Given the description of an element on the screen output the (x, y) to click on. 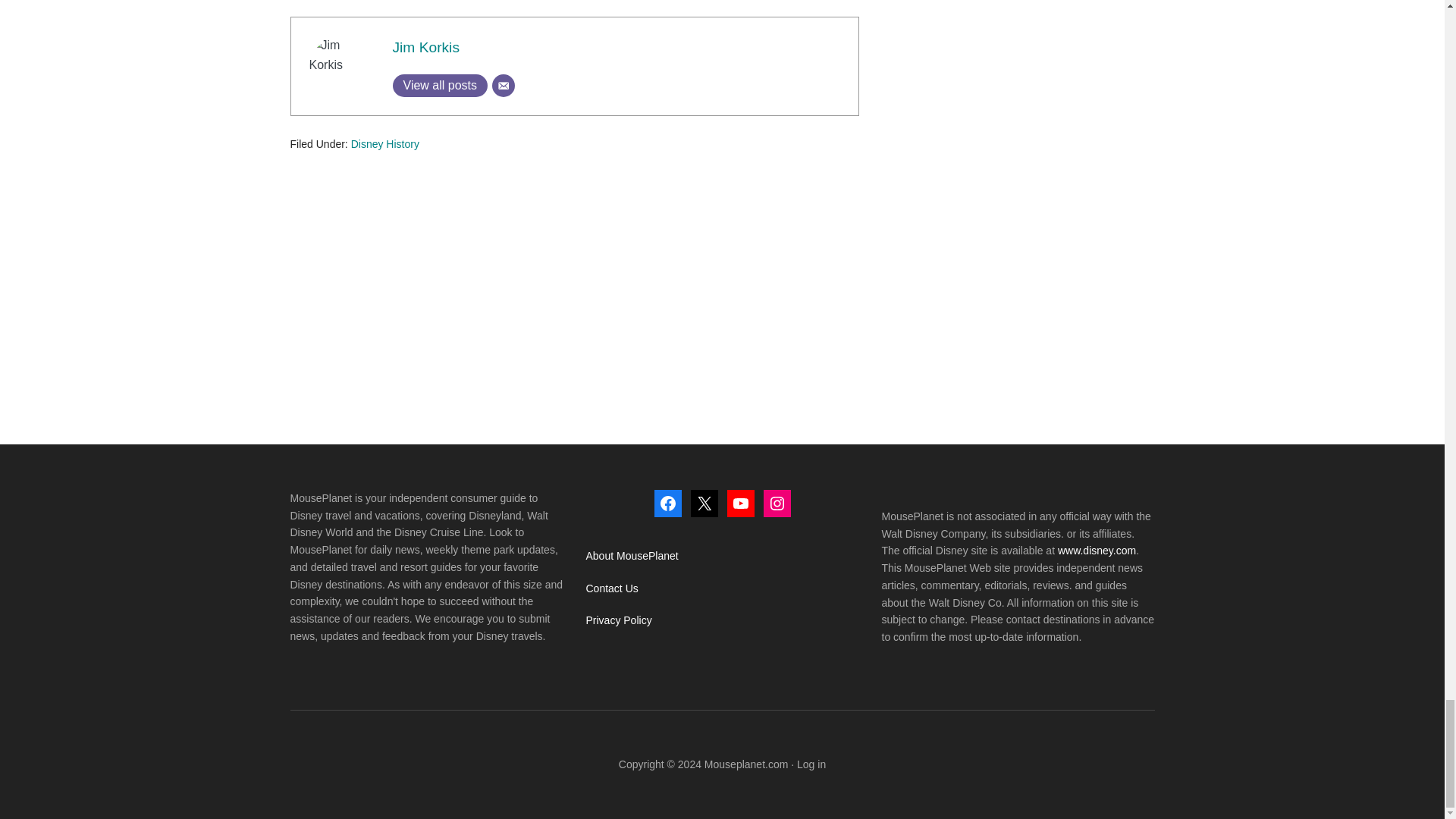
YouTube (740, 502)
Privacy Policy (617, 620)
Facebook (667, 502)
Jim Korkis (426, 47)
Instagram (776, 502)
About MousePlanet (631, 555)
Jim Korkis (426, 47)
www.disney.com (1096, 550)
X (703, 502)
Disney History (384, 143)
Contact Us (611, 588)
Log in (810, 764)
View all posts (440, 85)
View all posts (440, 85)
